Given the description of an element on the screen output the (x, y) to click on. 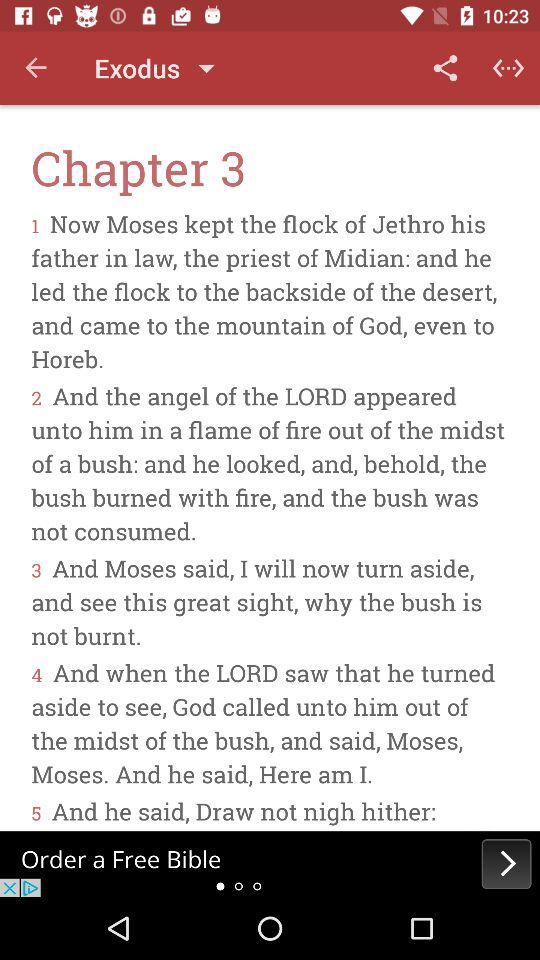
go to next (270, 864)
